Given the description of an element on the screen output the (x, y) to click on. 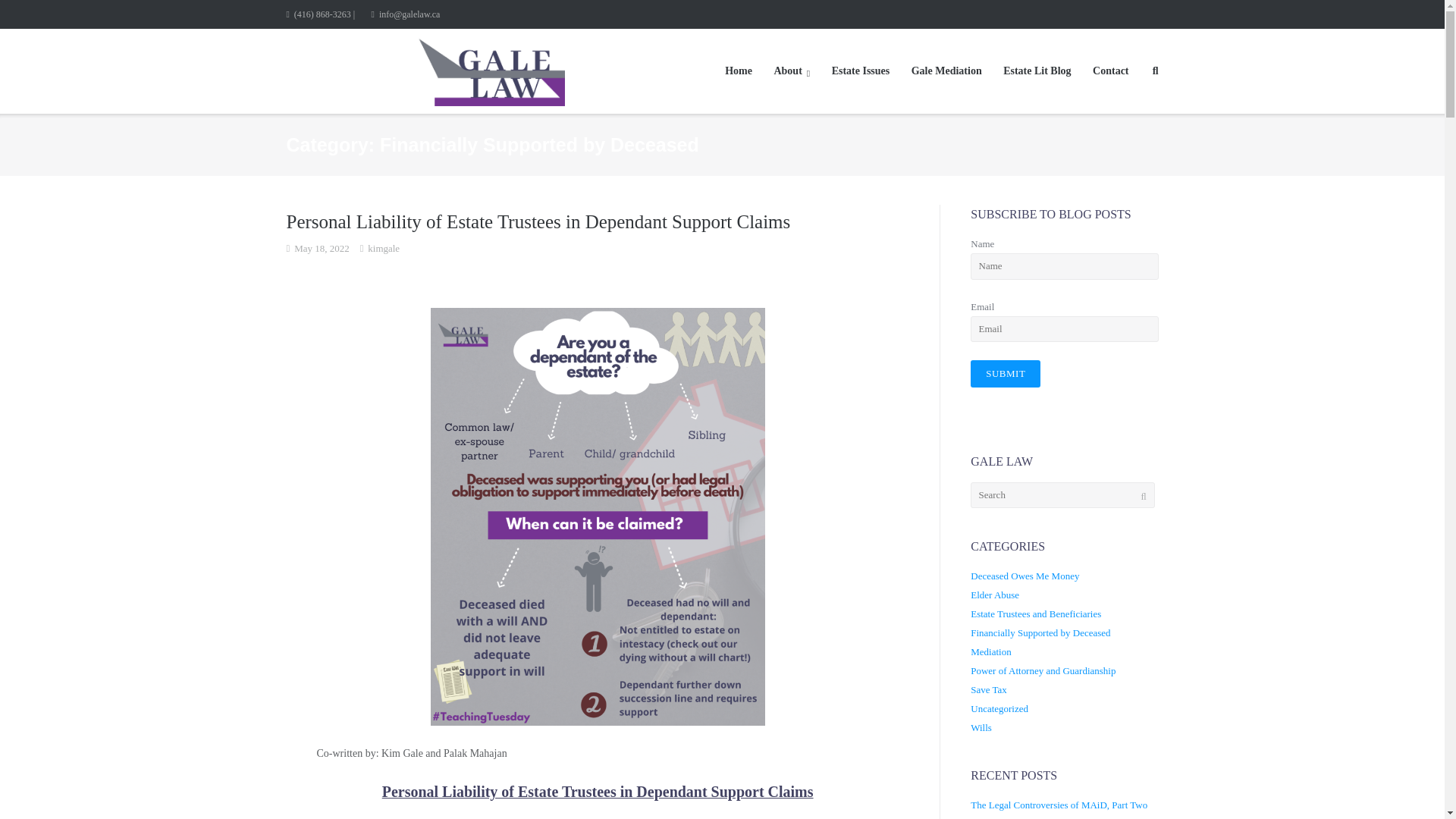
Search (35, 13)
May 18, 2022 (321, 248)
Elder Abuse (995, 594)
Deceased Owes Me Money (1024, 575)
Estate Trustees and Beneficiaries (1035, 613)
kimgale (383, 248)
Submit (1006, 373)
Submit (1006, 373)
